Given the description of an element on the screen output the (x, y) to click on. 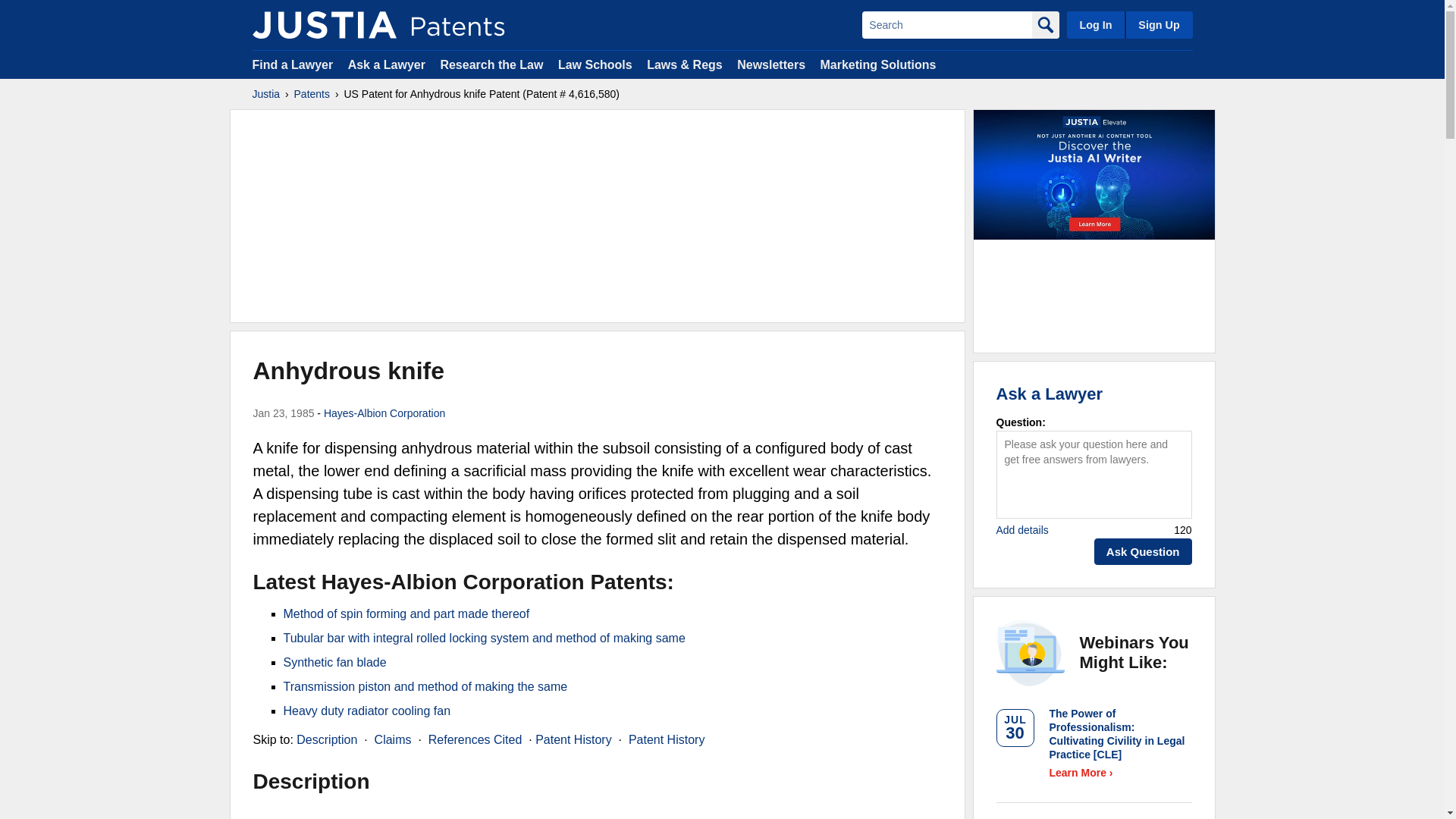
Research the Law (491, 64)
Transmission piston and method of making the same (425, 686)
Heavy duty radiator cooling fan (367, 710)
Search (945, 24)
Law Schools (594, 64)
Log In (1094, 24)
Description (326, 739)
Justia (323, 24)
Synthetic fan blade (335, 662)
Find a Lawyer (292, 64)
Patents (312, 93)
Newsletters (770, 64)
Method of spin forming and part made thereof (406, 613)
Claims (393, 739)
